Given the description of an element on the screen output the (x, y) to click on. 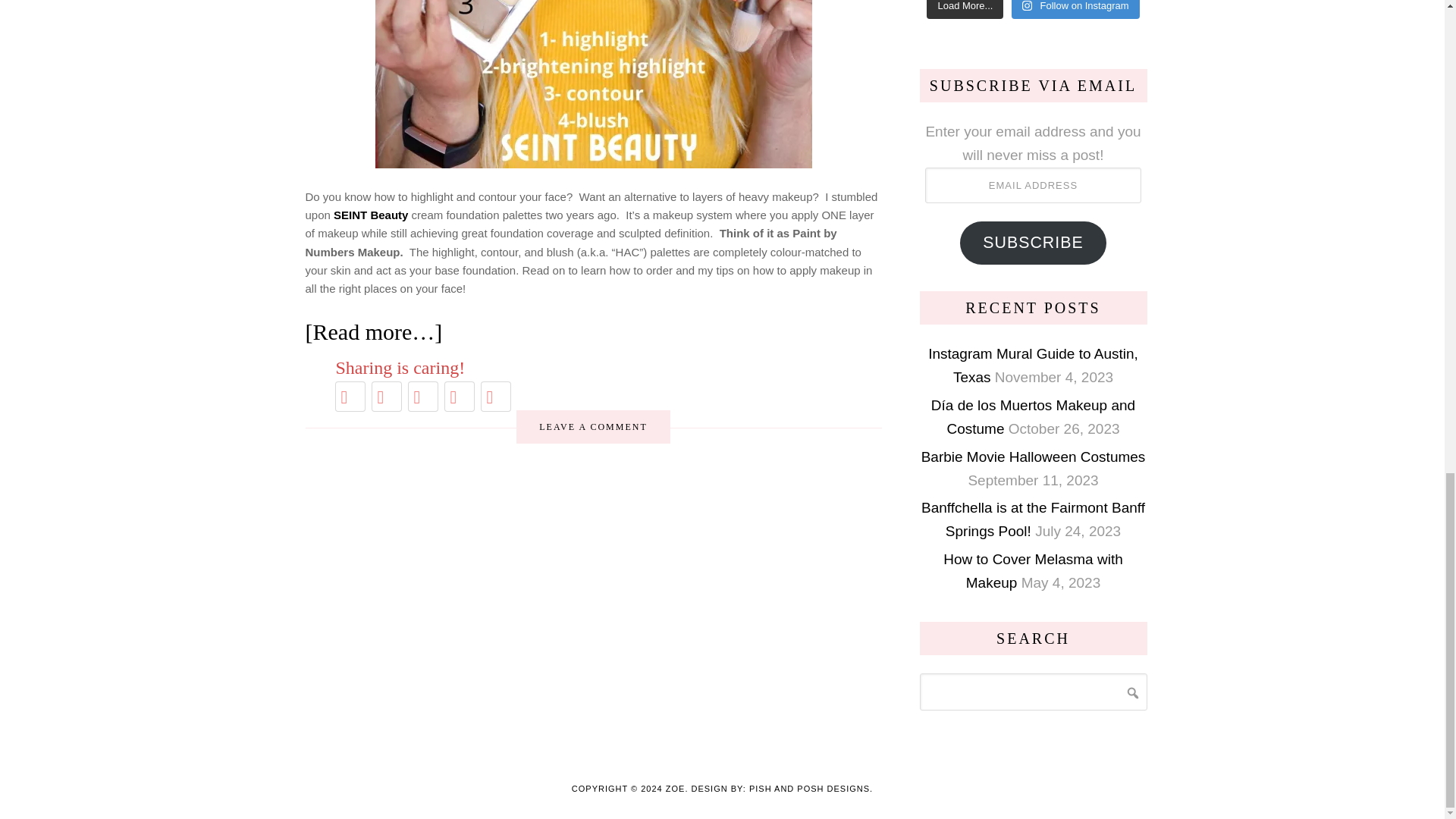
Facebook (386, 396)
How to Cover Melasma with Makeup (1032, 570)
Pinterest (422, 396)
Follow on Instagram (1075, 9)
Load More... (964, 9)
Banffchella is at the Fairmont Banff Springs Pool! (1032, 518)
Instagram Mural Guide to Austin, Texas (1033, 364)
Email This (459, 396)
SEINT Beauty (370, 214)
More Options (495, 396)
